Given the description of an element on the screen output the (x, y) to click on. 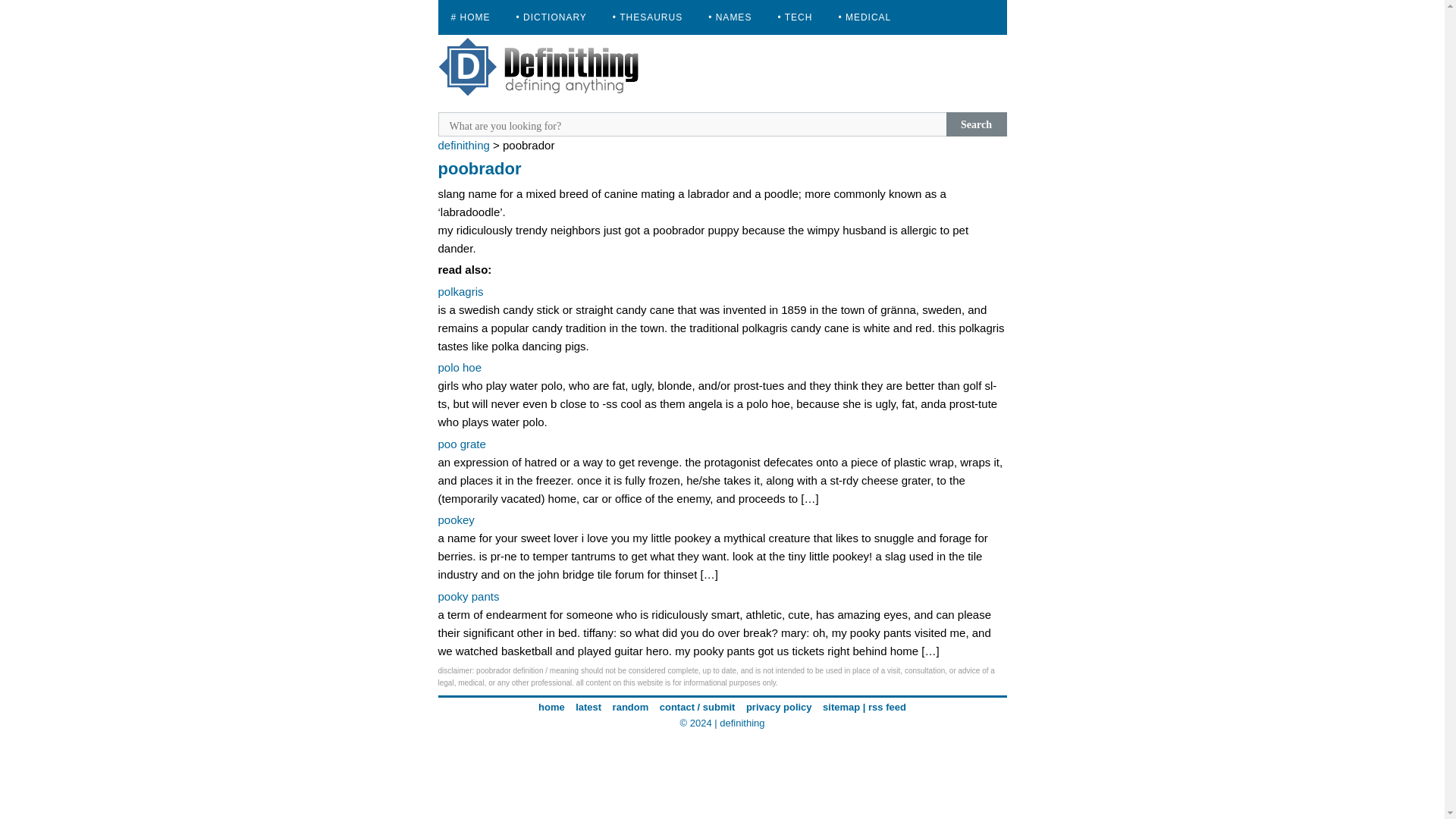
home (551, 706)
polo hoe (459, 367)
definithing (463, 144)
pookey (456, 519)
random (630, 706)
definithing (741, 722)
sitemap (841, 706)
latest (588, 706)
rss feed (886, 706)
privacy policy (778, 706)
poo grate (462, 443)
pooky pants (468, 595)
Search (976, 124)
poobrador (479, 168)
polkagris (460, 291)
